Given the description of an element on the screen output the (x, y) to click on. 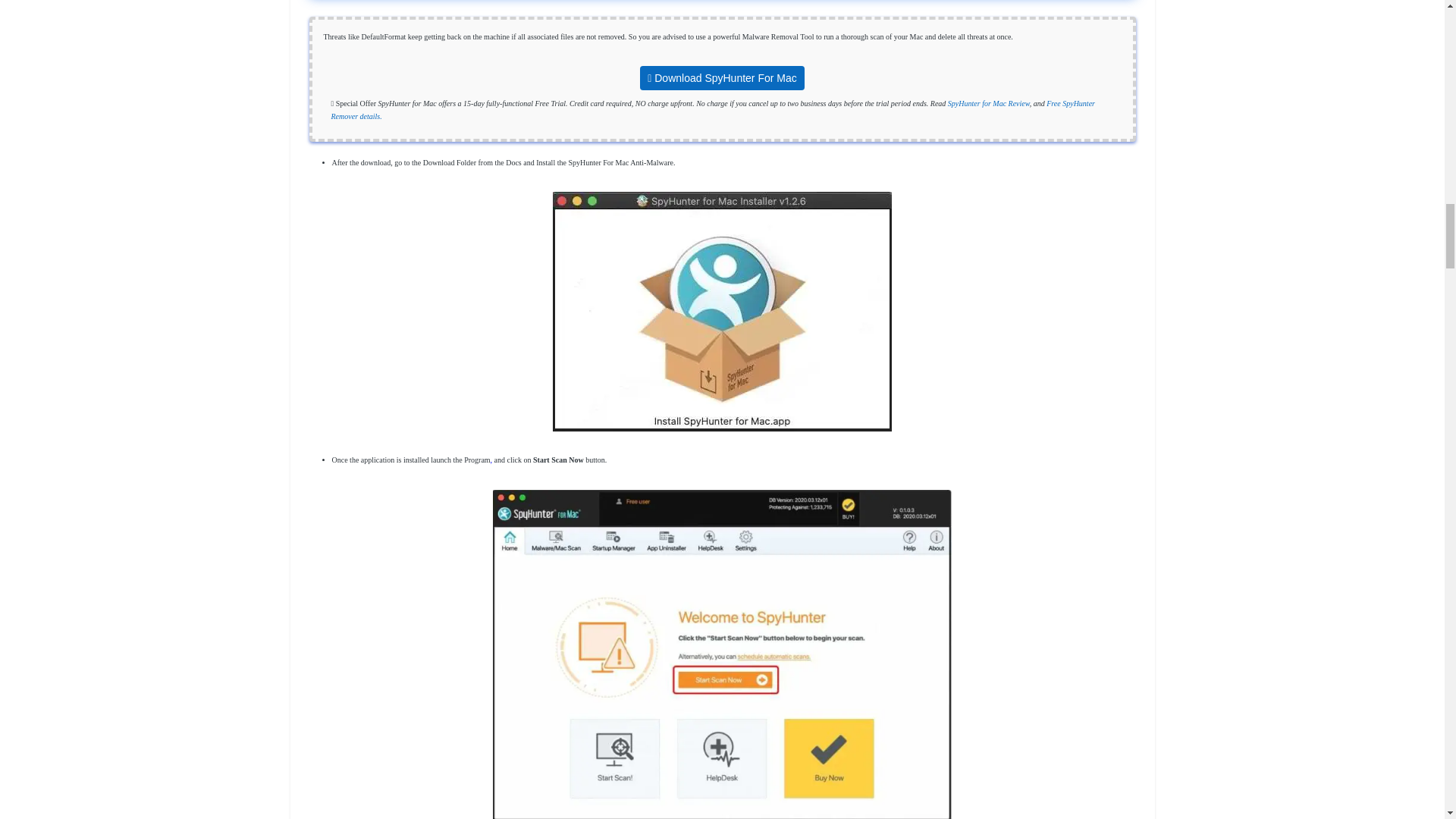
SpyHunter for Mac Review (988, 103)
Download SpyHunter For Mac (722, 79)
Free SpyHunter Remover details. (712, 109)
Download SpyHunter For Mac (722, 78)
